Given the description of an element on the screen output the (x, y) to click on. 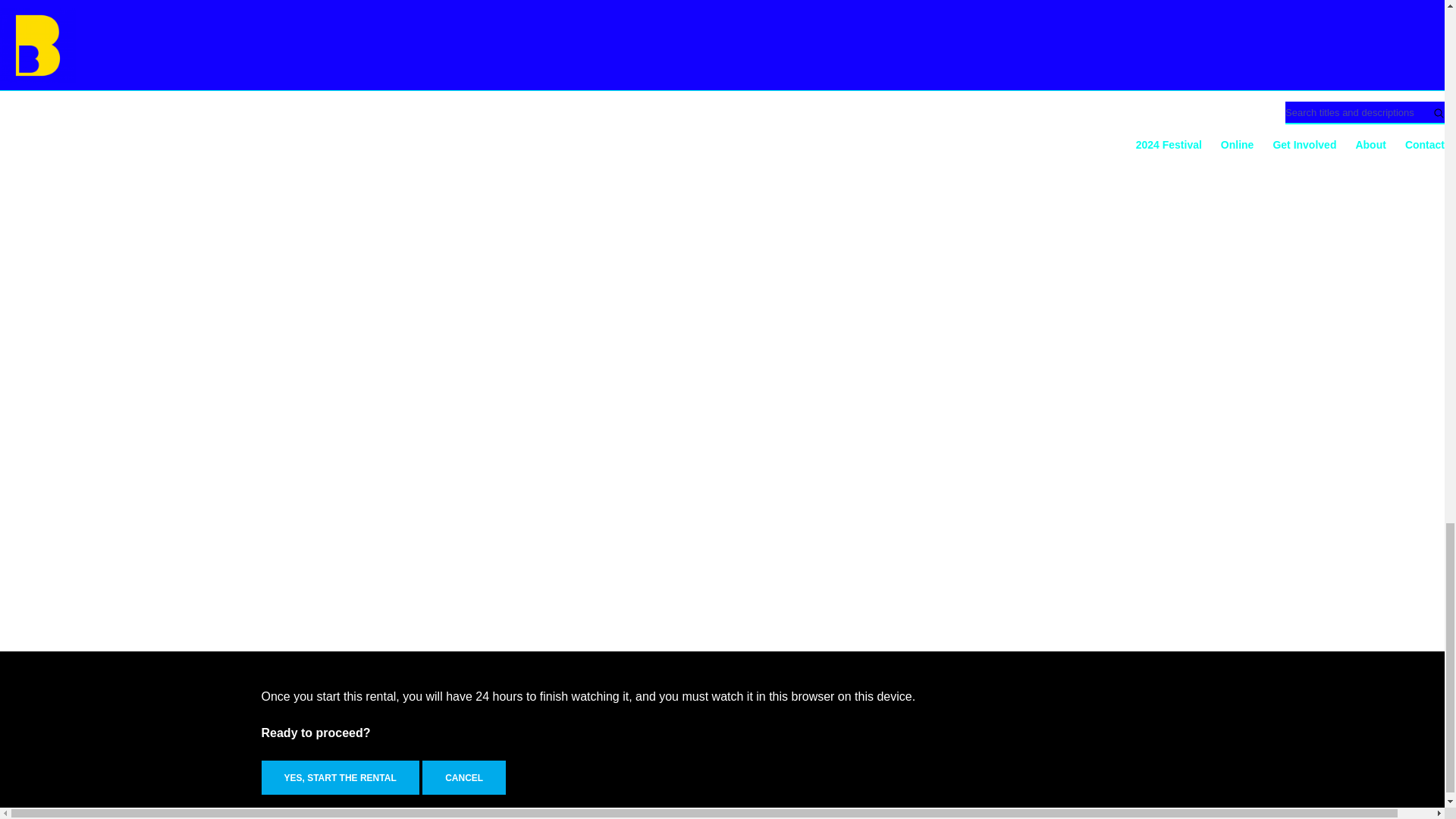
CANCEL (463, 777)
YES, START THE RENTAL (339, 777)
